Given the description of an element on the screen output the (x, y) to click on. 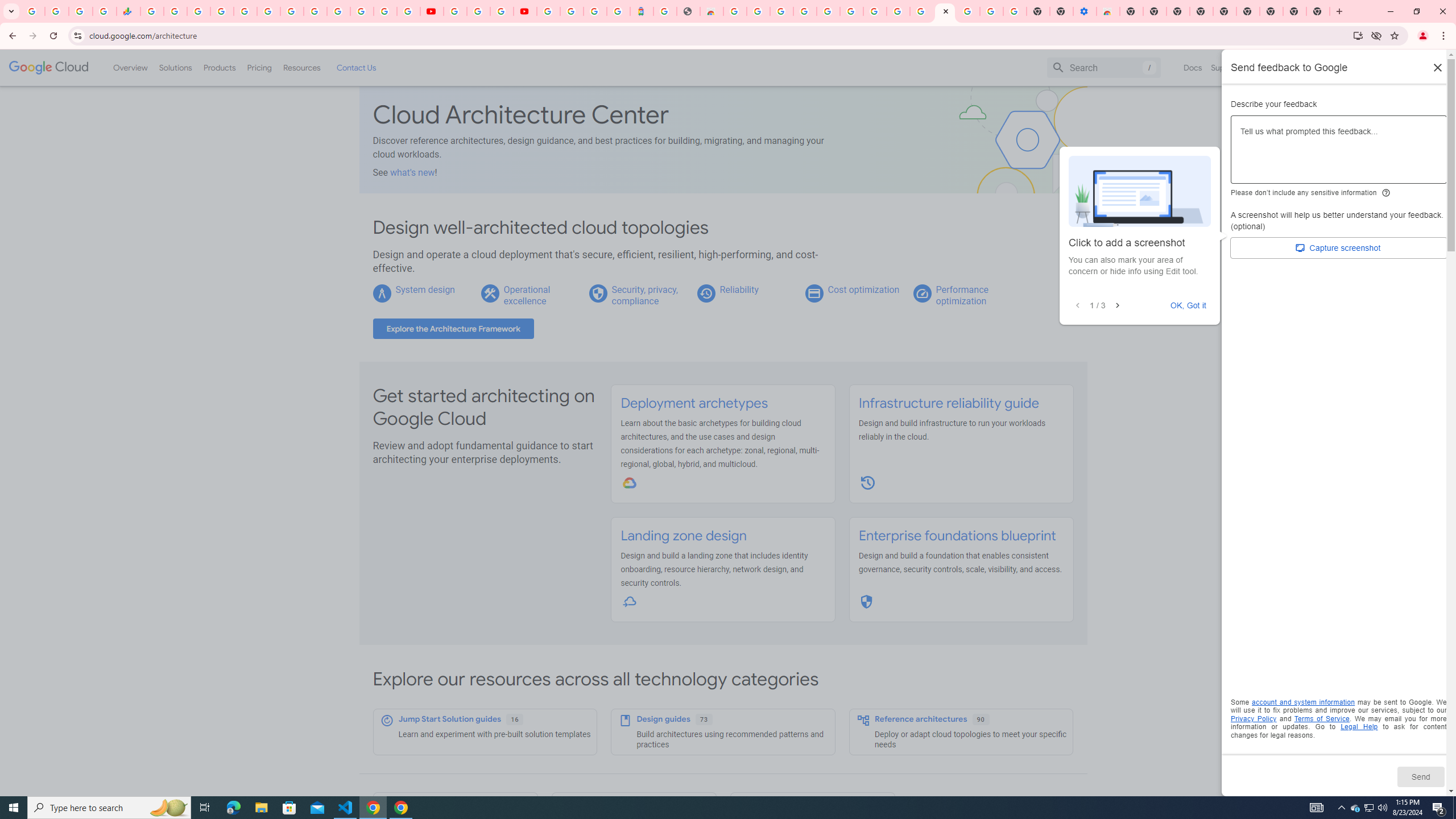
English (1288, 67)
Create your Google Account (897, 11)
Solutions (175, 67)
Performance optimization (962, 295)
Products (218, 67)
Sign in - Google Accounts (571, 11)
New Tab (1318, 11)
Deployment archetypes (694, 402)
Cost optimization (863, 289)
Browse the Google Chrome Community - Google Chrome Community (921, 11)
Landing zone design (683, 535)
